Given the description of an element on the screen output the (x, y) to click on. 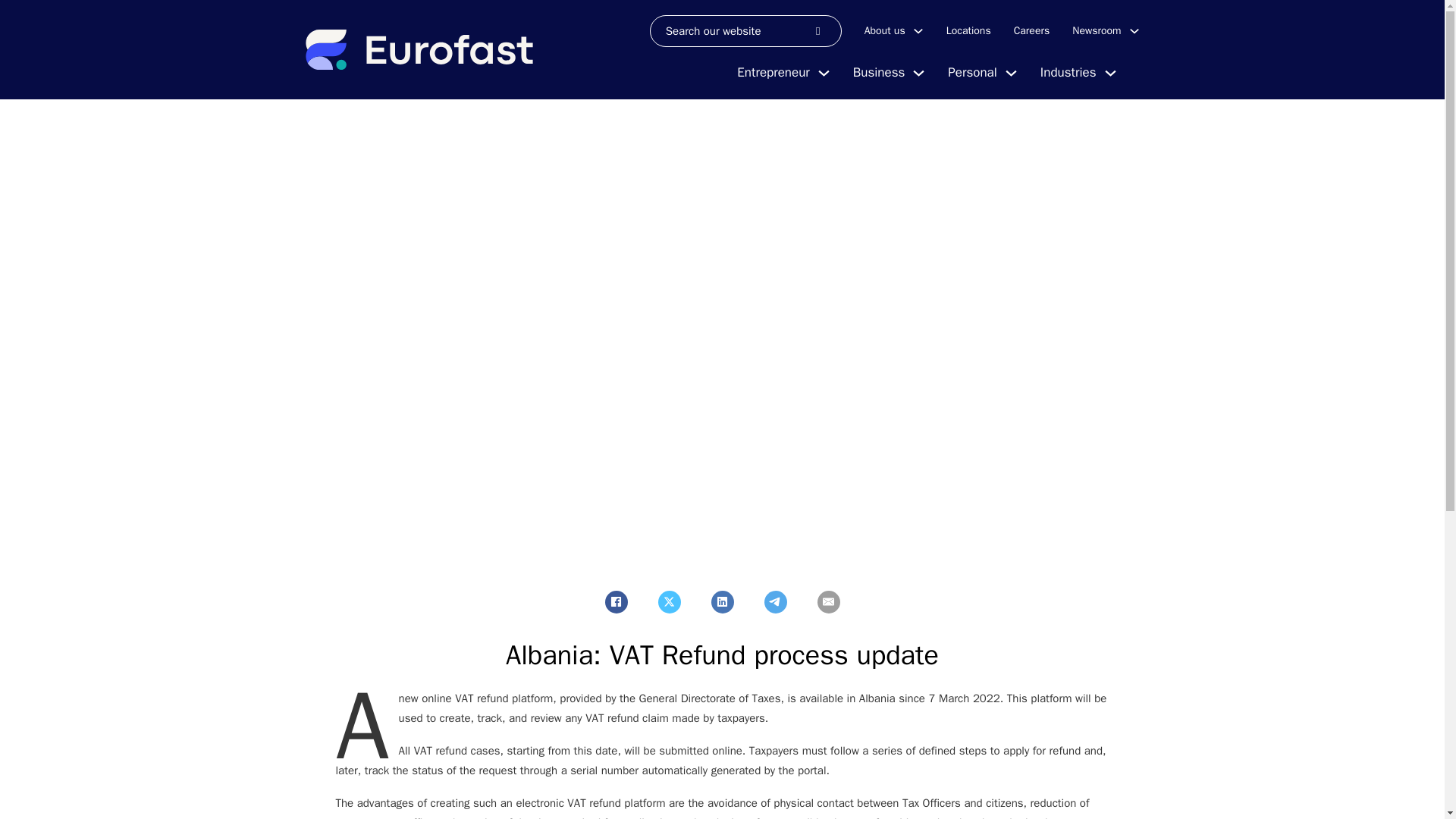
Entrepreneur (772, 73)
Careers (1031, 31)
Newsroom (1096, 31)
About us (884, 31)
Locations (968, 31)
